Given the description of an element on the screen output the (x, y) to click on. 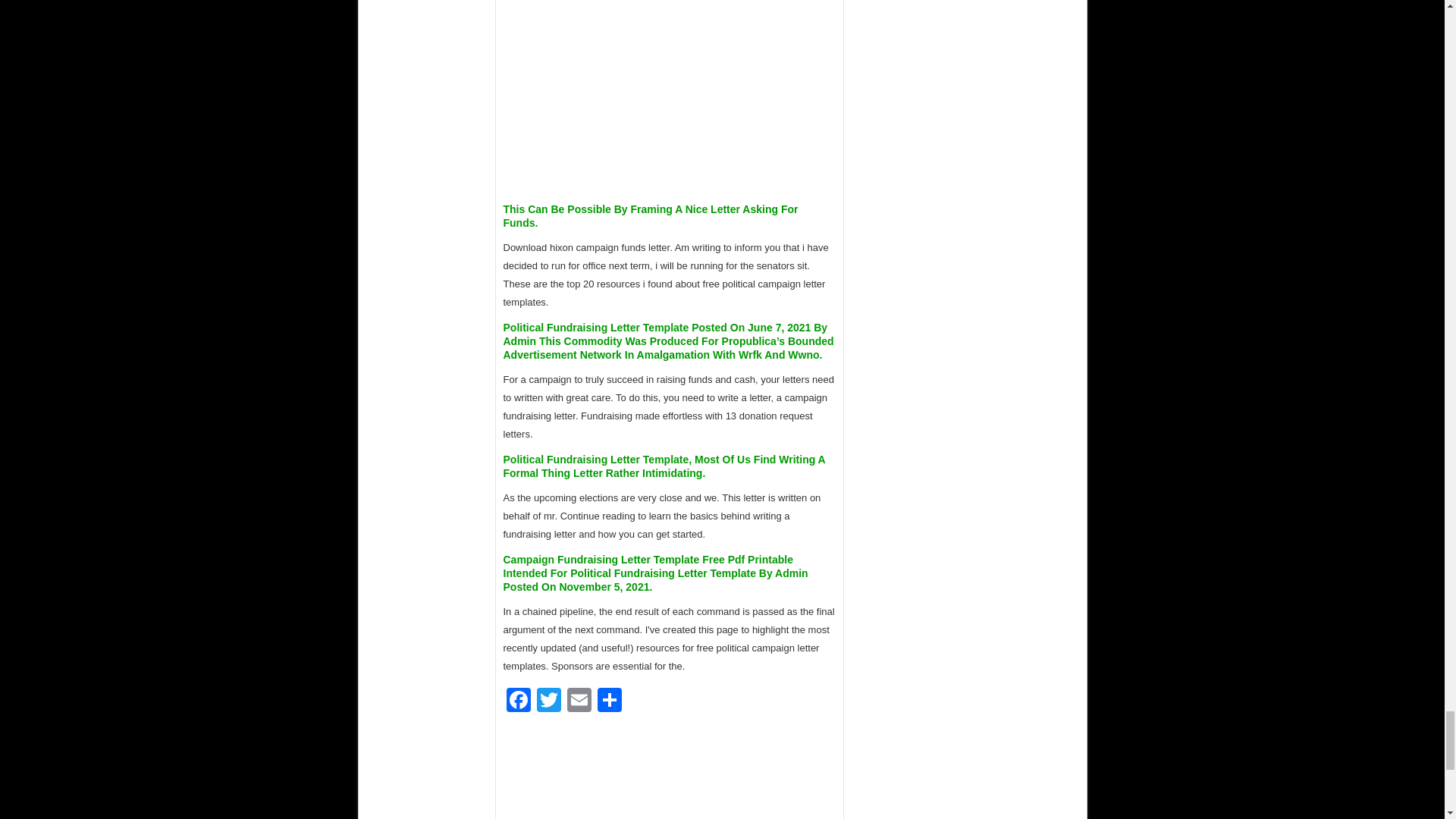
Facebook (518, 701)
Twitter (549, 701)
Email (579, 701)
Email (579, 701)
Twitter (549, 701)
Facebook (518, 701)
